Given the description of an element on the screen output the (x, y) to click on. 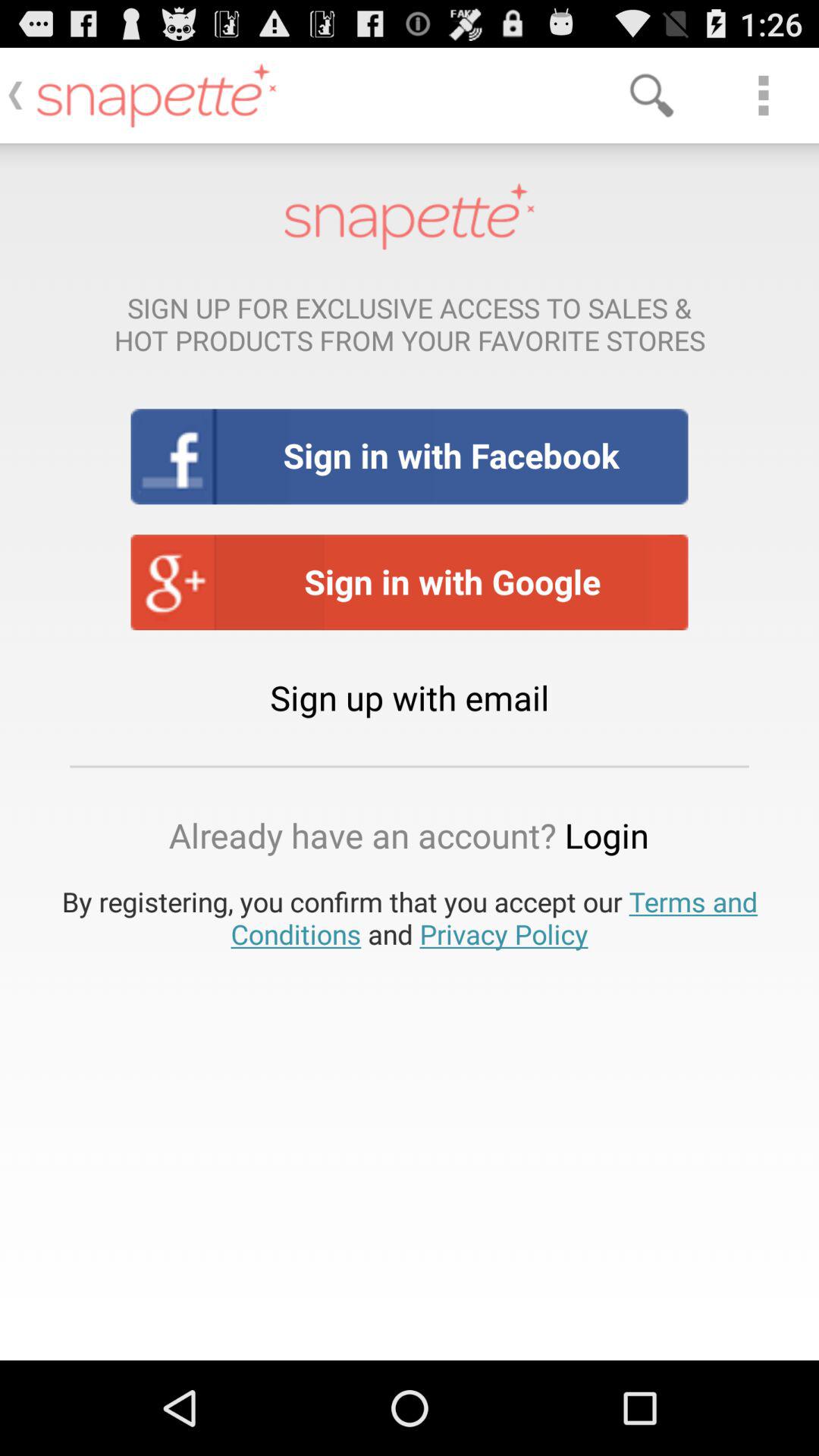
choose item above the sign up for icon (763, 95)
